Given the description of an element on the screen output the (x, y) to click on. 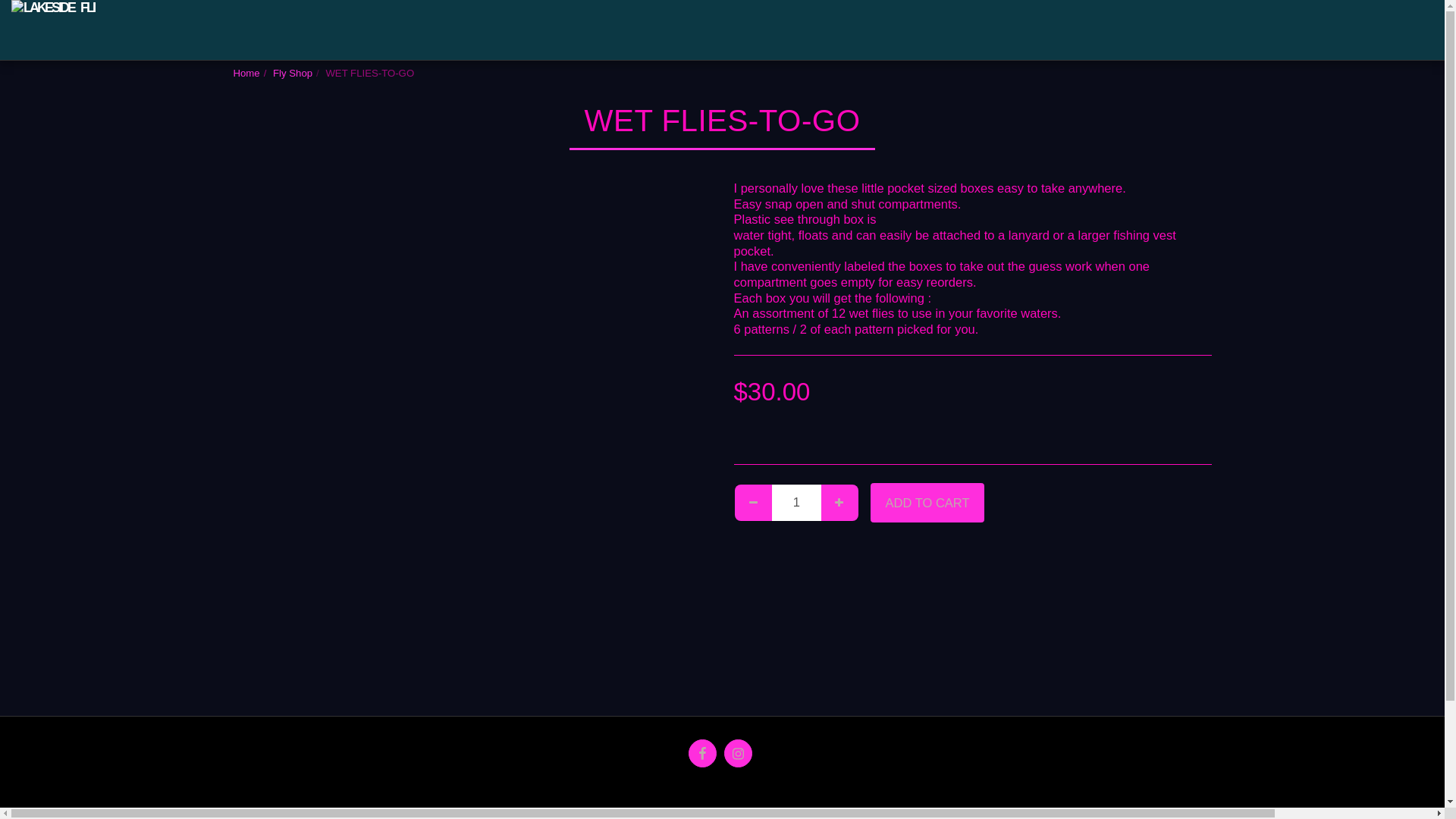
Fly Shop (293, 72)
ADD TO CART (927, 502)
1 (796, 502)
Home (246, 72)
